Given the description of an element on the screen output the (x, y) to click on. 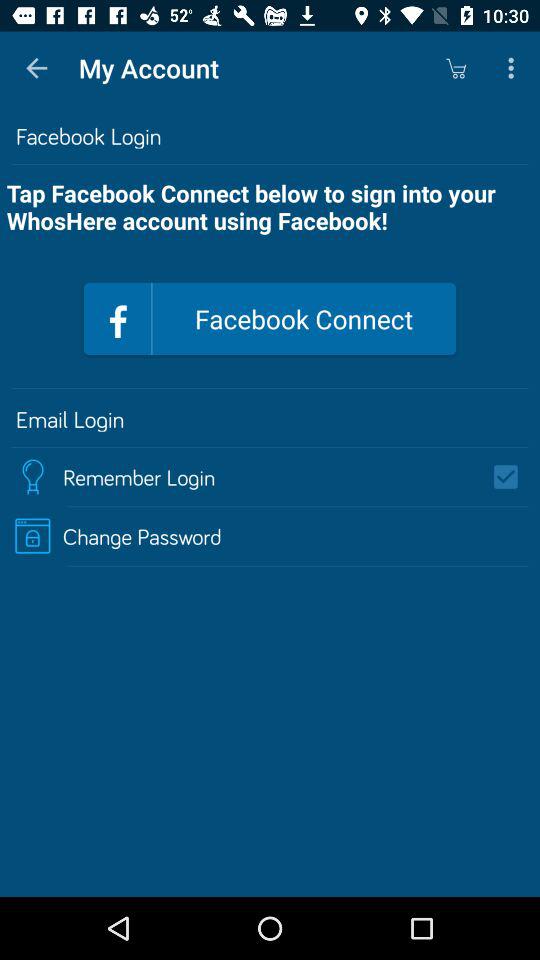
save login info (512, 477)
